Given the description of an element on the screen output the (x, y) to click on. 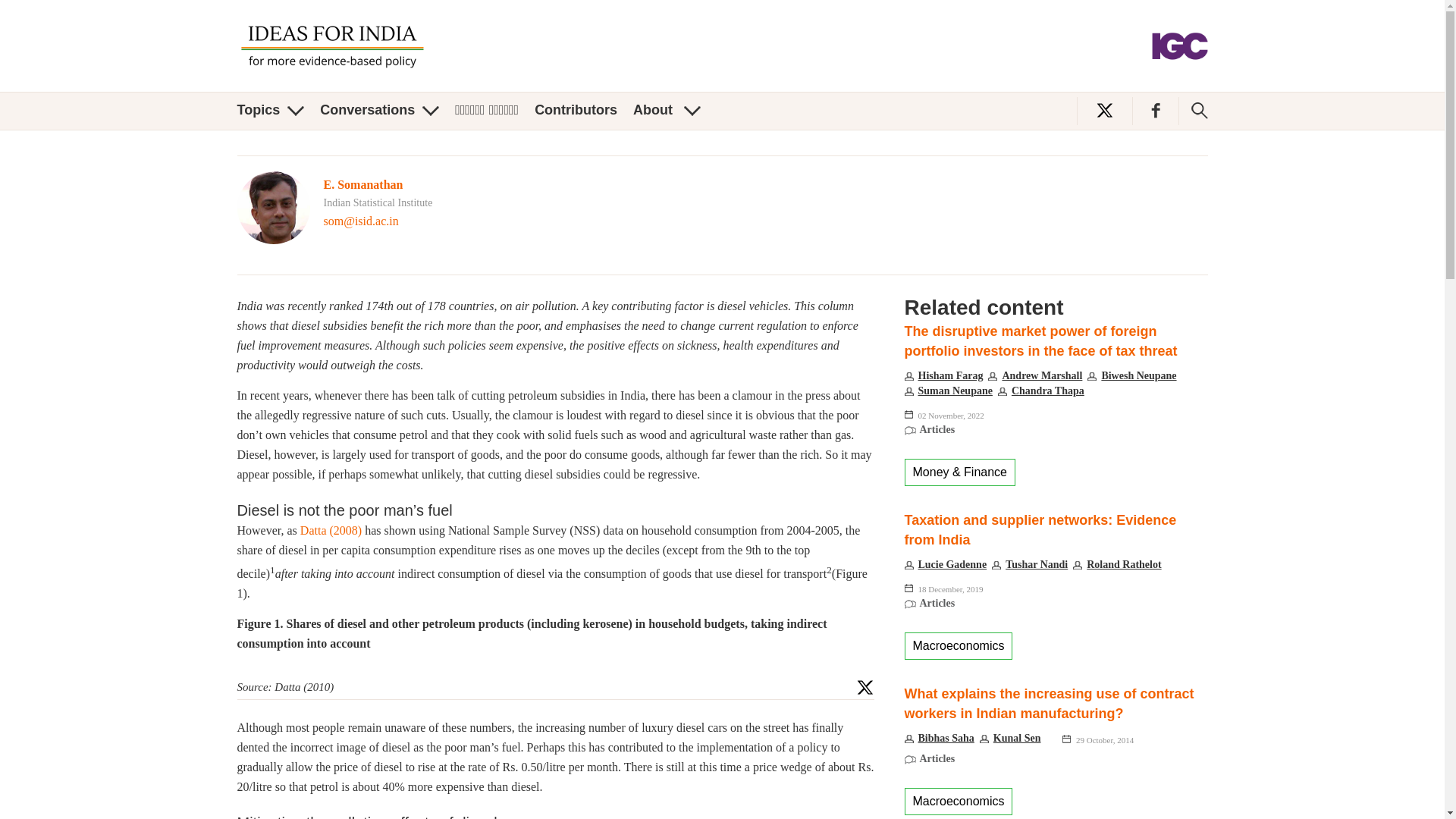
Topics (269, 109)
E. Somanathan (363, 184)
Conversations (379, 109)
Contributors (575, 109)
About (666, 109)
